Given the description of an element on the screen output the (x, y) to click on. 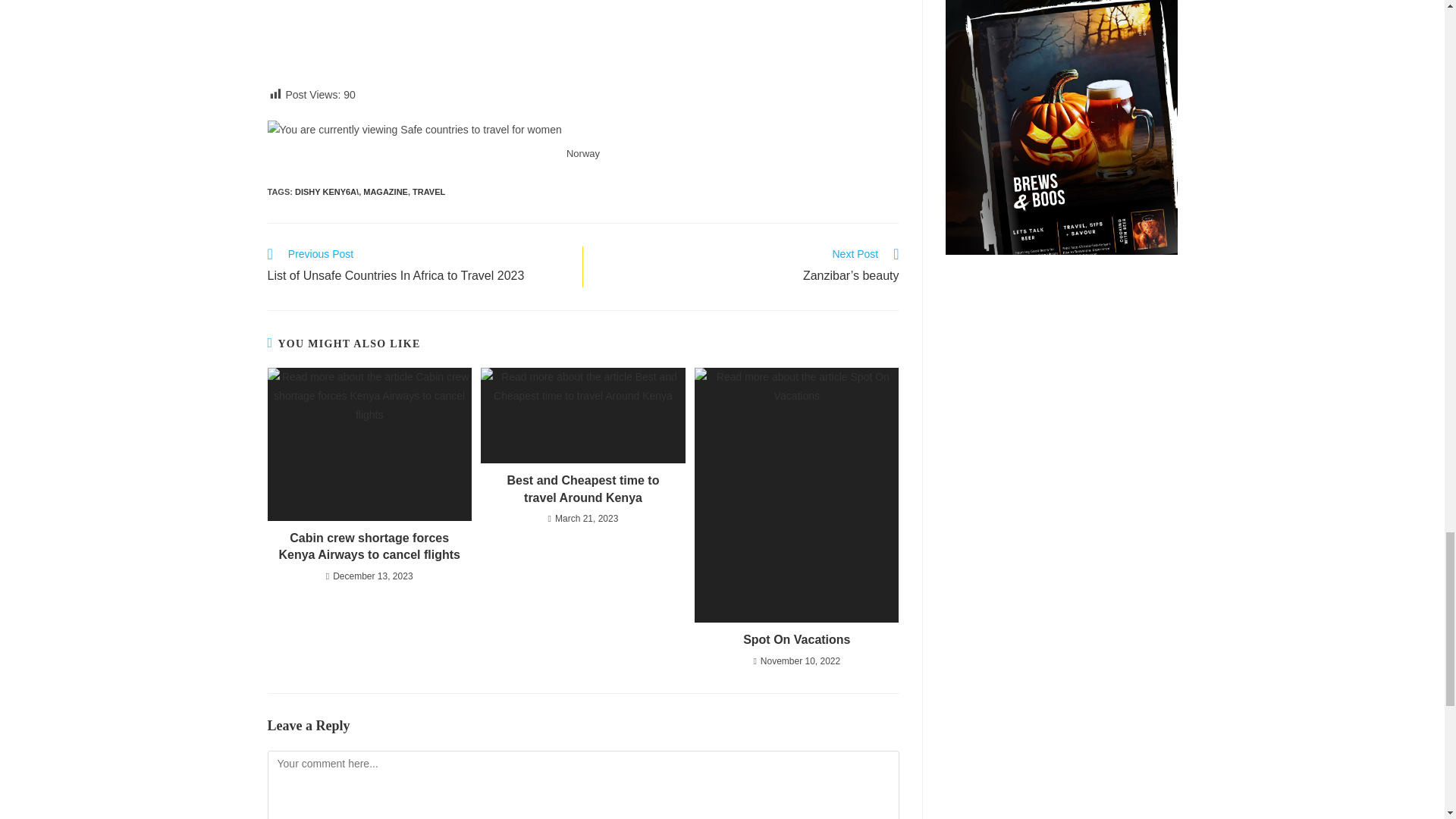
Best and Cheapest time to travel Around Kenya (582, 489)
TRAVEL (428, 191)
Cabin crew shortage forces Kenya Airways to cancel flights (368, 546)
Spot On Vacations (796, 639)
MAGAZINE (384, 191)
